Given the description of an element on the screen output the (x, y) to click on. 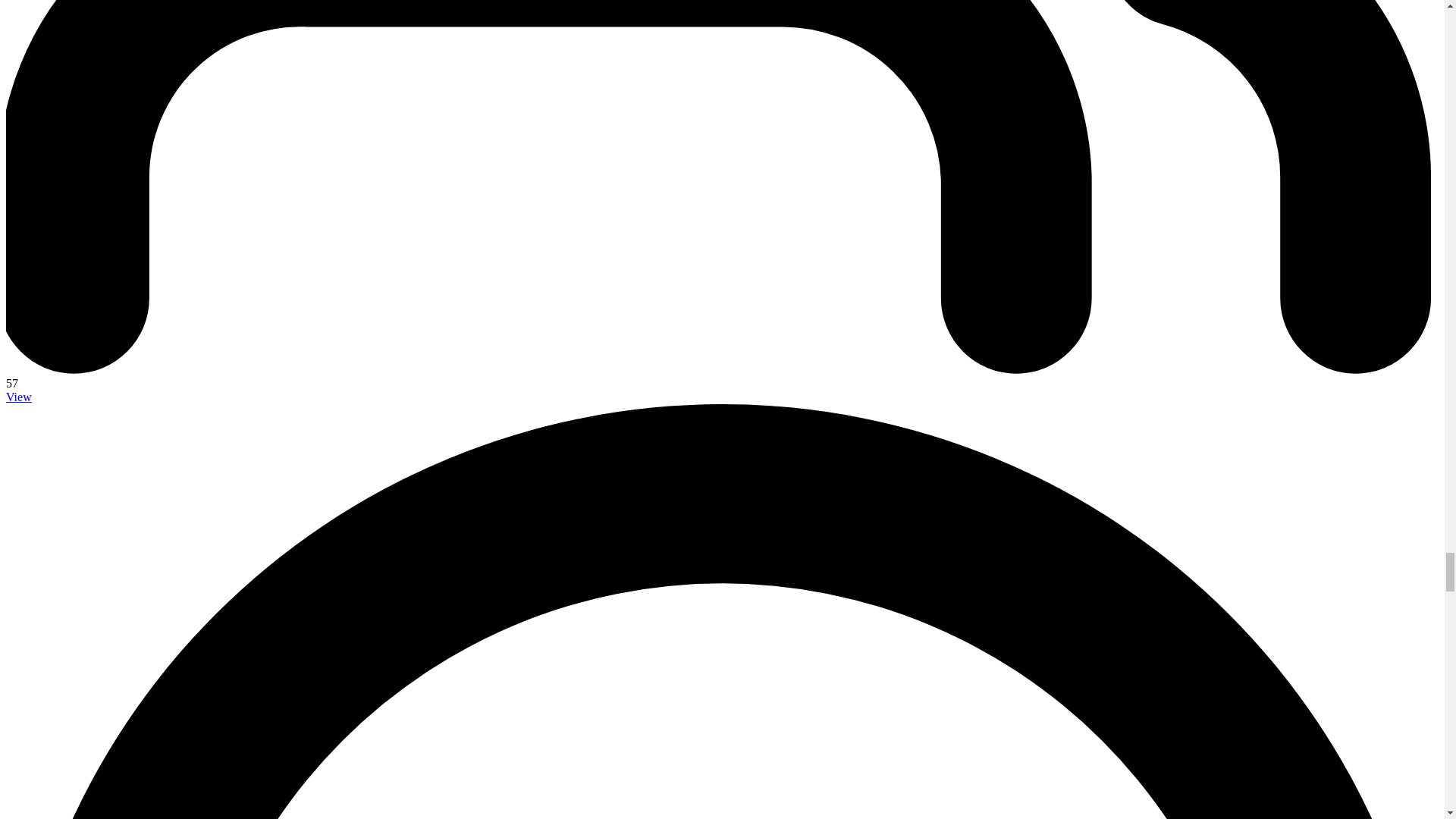
View (18, 396)
